Given the description of an element on the screen output the (x, y) to click on. 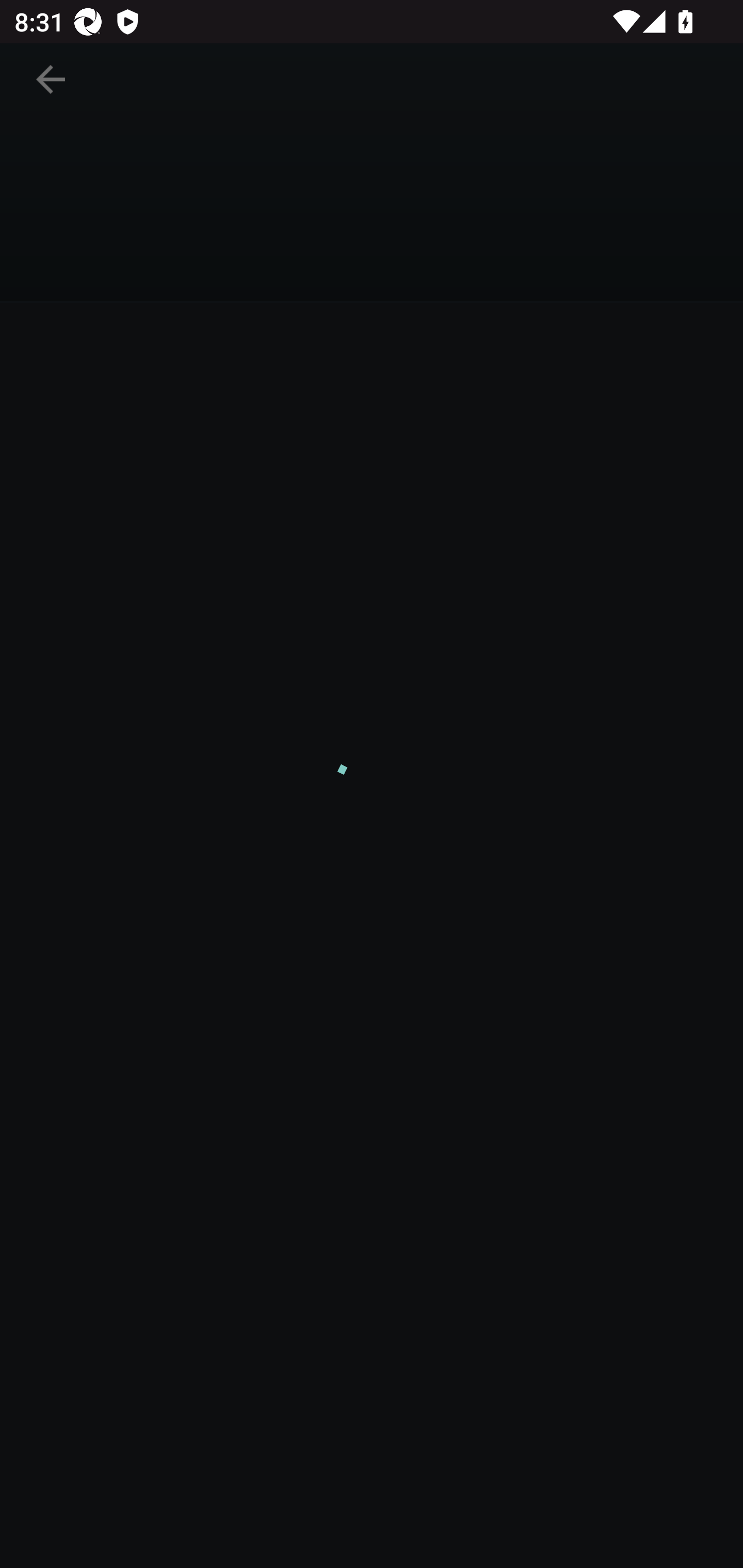
Navigate up (50, 86)
